Given the description of an element on the screen output the (x, y) to click on. 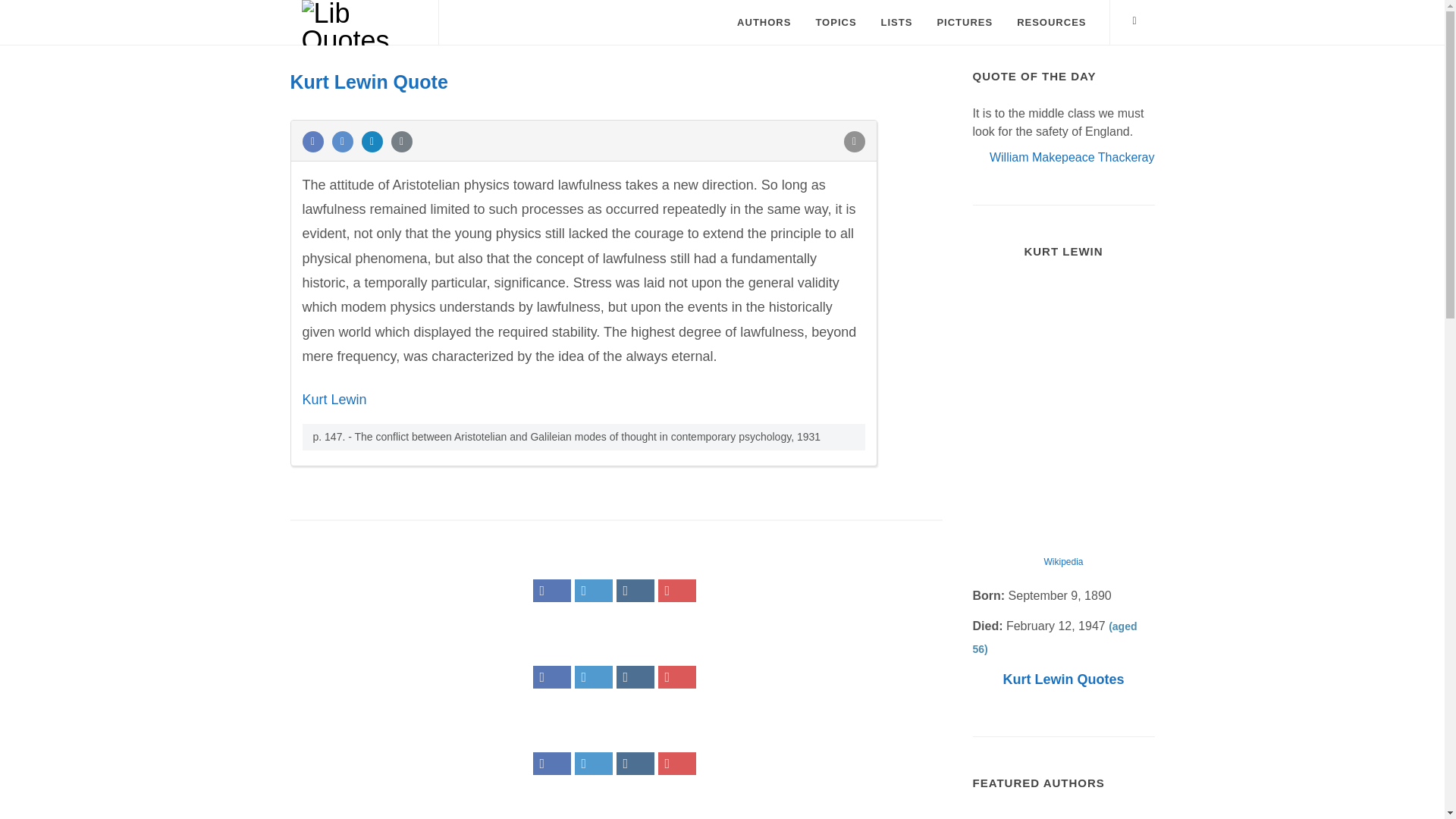
Kurt Lewin (333, 399)
Wikipedia (1063, 561)
AUTHORS (763, 22)
Theodore Roosevelt (1063, 816)
William Makepeace Thackeray (1072, 155)
LISTS (896, 22)
Kurt Lewin Quotes (1063, 679)
Edgar Allan Poe (1124, 816)
TOPICS (835, 22)
RESOURCES (1051, 22)
PICTURES (964, 22)
Terence (1002, 816)
